Given the description of an element on the screen output the (x, y) to click on. 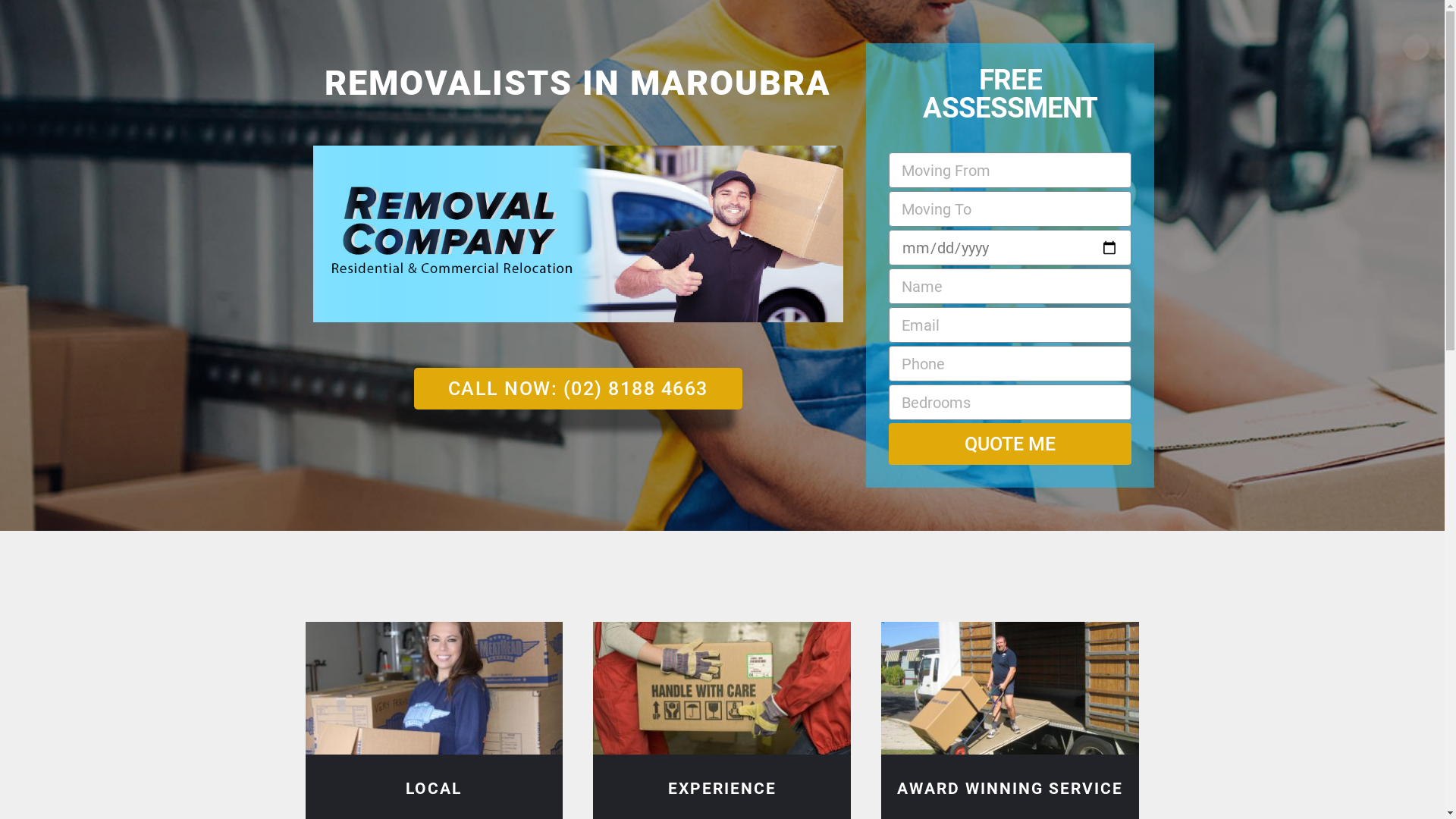
Experienced Removalists Maroubra Element type: hover (721, 687)
Local Maroubra Removalists Element type: hover (433, 687)
QUOTE ME Element type: text (1009, 443)
Award Winning Maroubra Removal Services Element type: hover (1010, 687)
CALL NOW: (02) 8188 4663 Element type: text (578, 388)
